Given the description of an element on the screen output the (x, y) to click on. 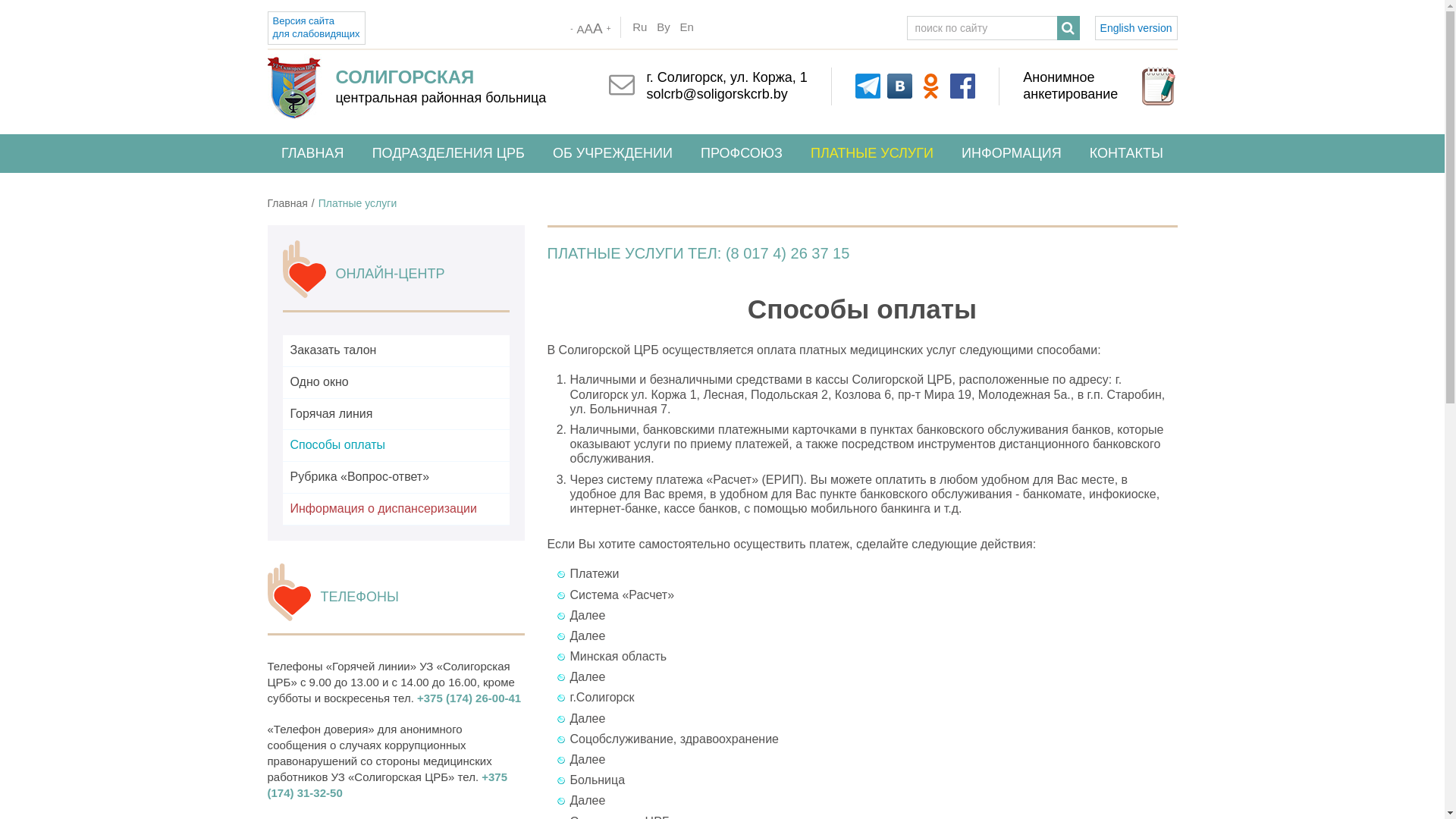
En Element type: text (686, 26)
- Element type: text (571, 28)
+ Element type: text (608, 28)
English version Element type: text (1136, 27)
solcrb@soligorskcrb.by Element type: text (716, 93)
AAA Element type: text (589, 28)
By Element type: text (663, 26)
Ru Element type: text (639, 26)
